Given the description of an element on the screen output the (x, y) to click on. 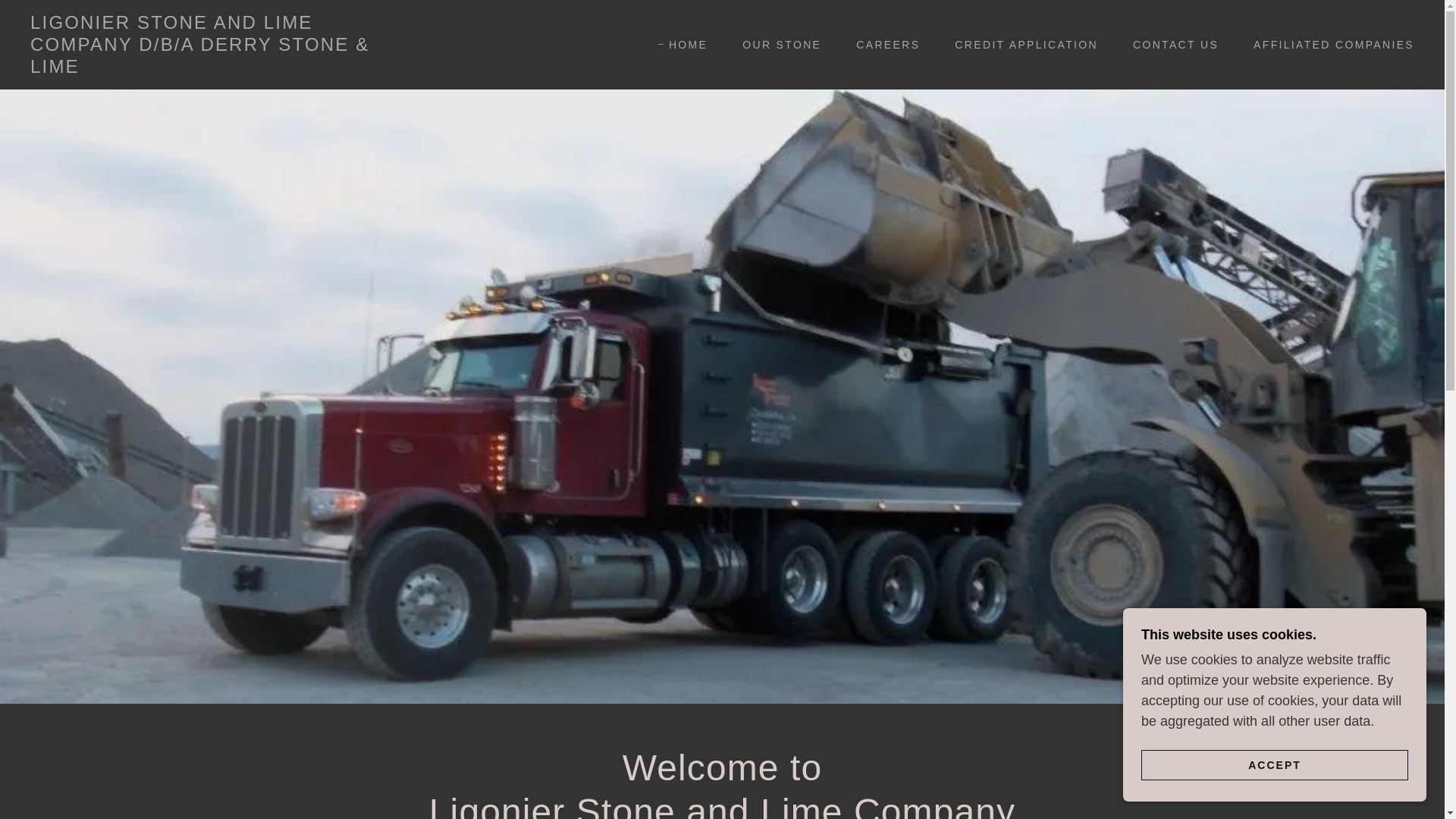
CONTACT US (1170, 44)
CAREERS (882, 44)
AFFILIATED COMPANIES (1328, 44)
CREDIT APPLICATION (1020, 44)
HOME (682, 45)
OUR STONE (775, 44)
ACCEPT (1274, 764)
